Given the description of an element on the screen output the (x, y) to click on. 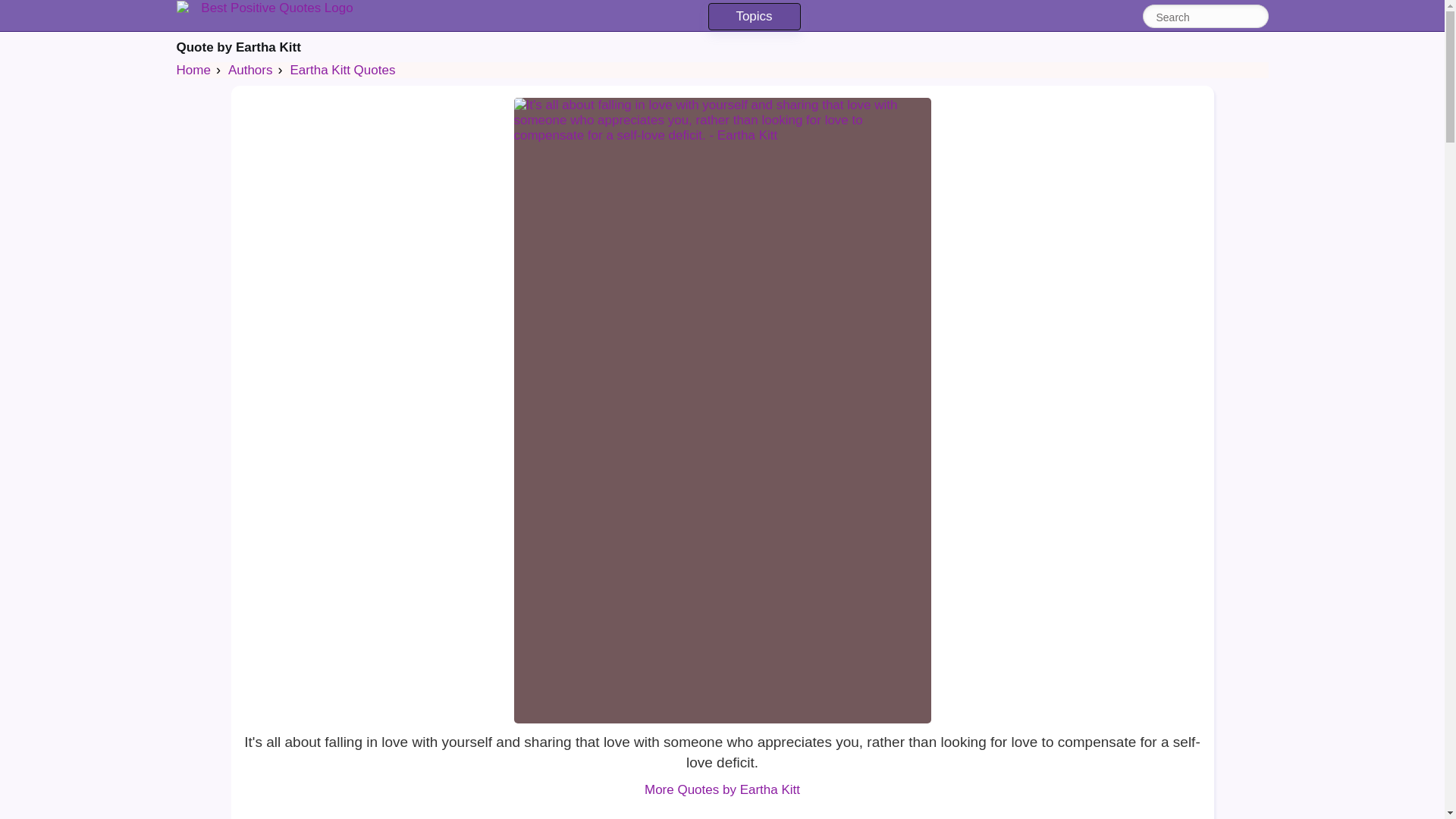
BestPositiveQuotes.com (270, 7)
Home (192, 69)
Search (1197, 16)
Search (1256, 15)
Start typing and hit ENTER (1197, 16)
Topics (753, 16)
Eartha Kitt Quotes (342, 69)
Authors (250, 69)
